Given the description of an element on the screen output the (x, y) to click on. 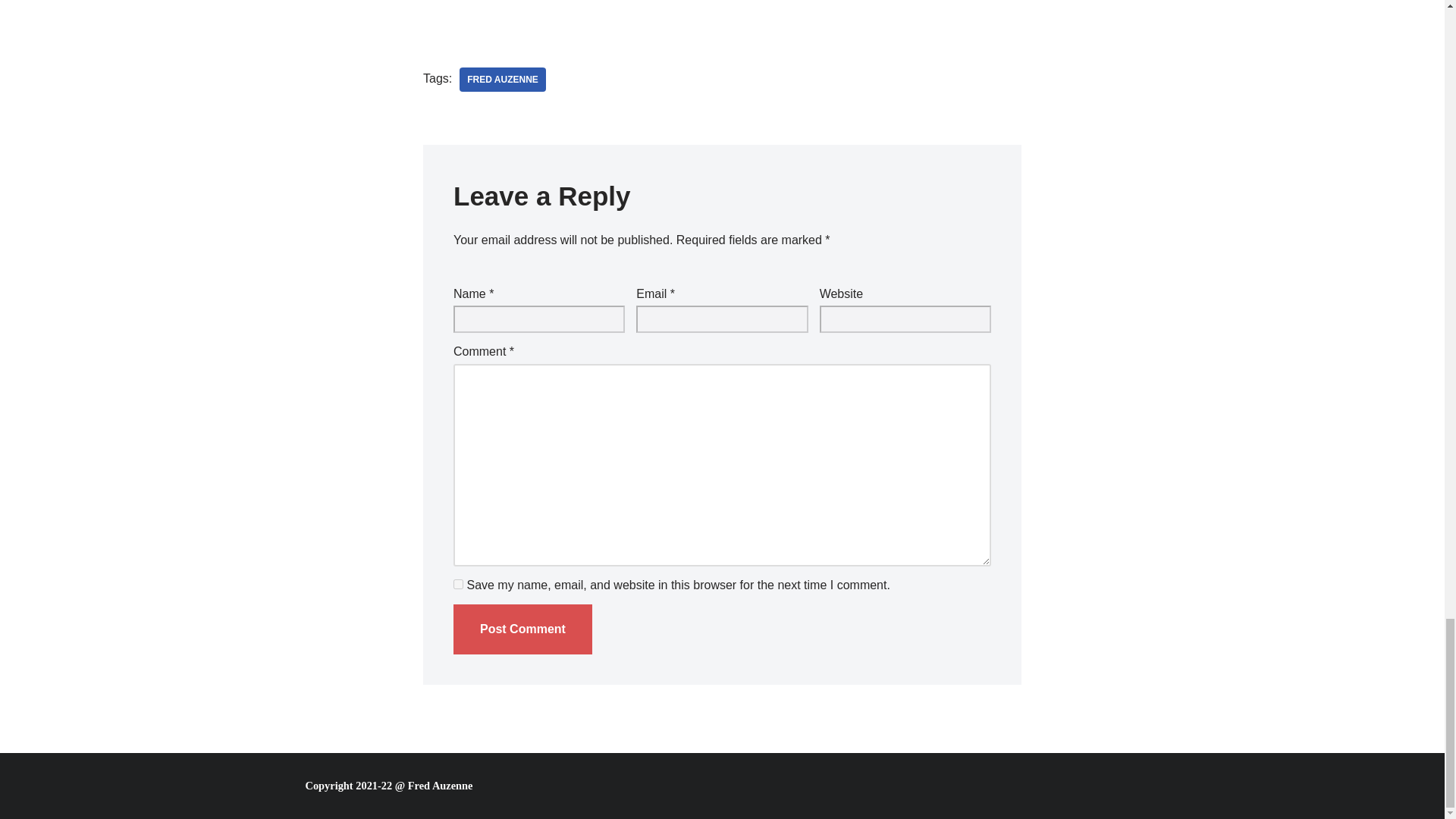
Post Comment (522, 629)
Post Comment (522, 629)
yes (457, 583)
FRED AUZENNE (503, 79)
Fred Auzenne (503, 79)
